Given the description of an element on the screen output the (x, y) to click on. 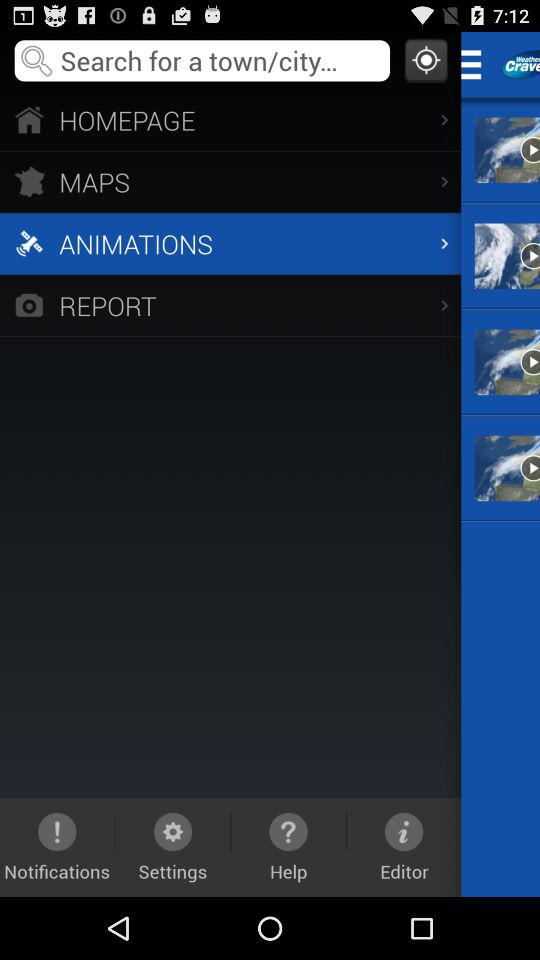
press the icon below report (404, 847)
